Given the description of an element on the screen output the (x, y) to click on. 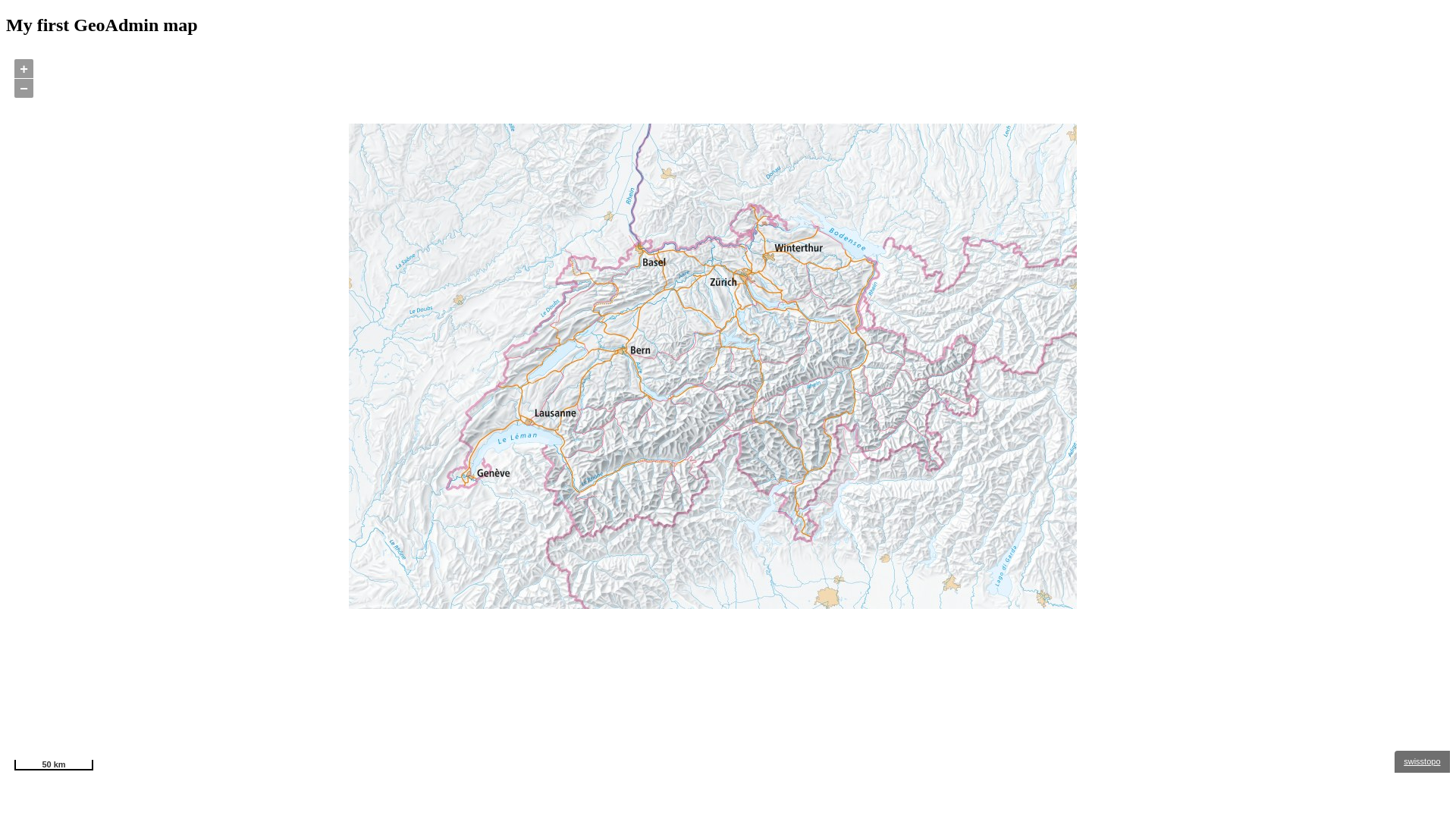
+ Element type: text (23, 68)
swisstopo Element type: text (1421, 760)
